Given the description of an element on the screen output the (x, y) to click on. 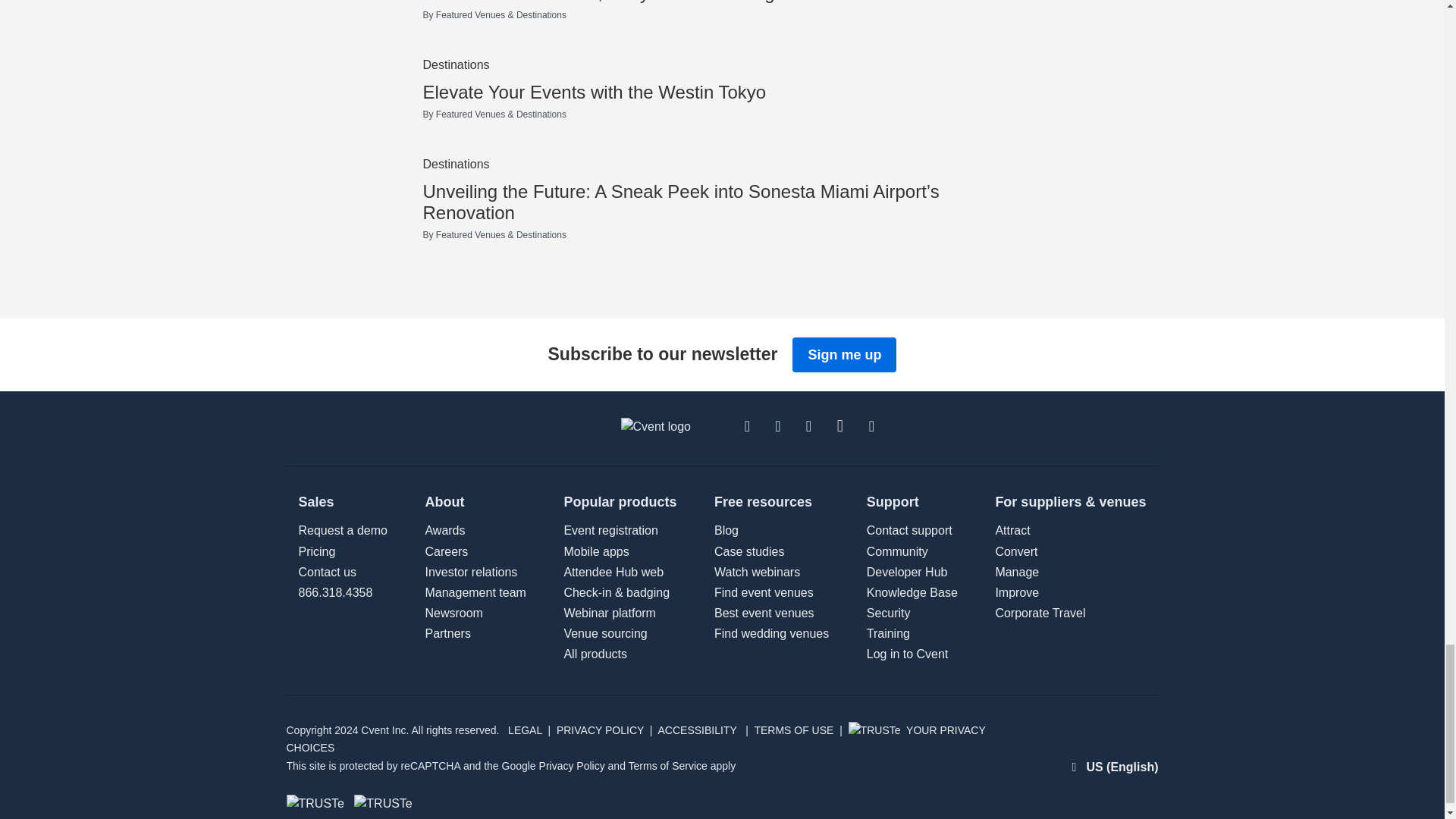
Developers (906, 571)
Blog (726, 530)
Knowledge Base (912, 592)
About (595, 653)
Legal (453, 612)
Management team (447, 633)
Security (888, 612)
